Given the description of an element on the screen output the (x, y) to click on. 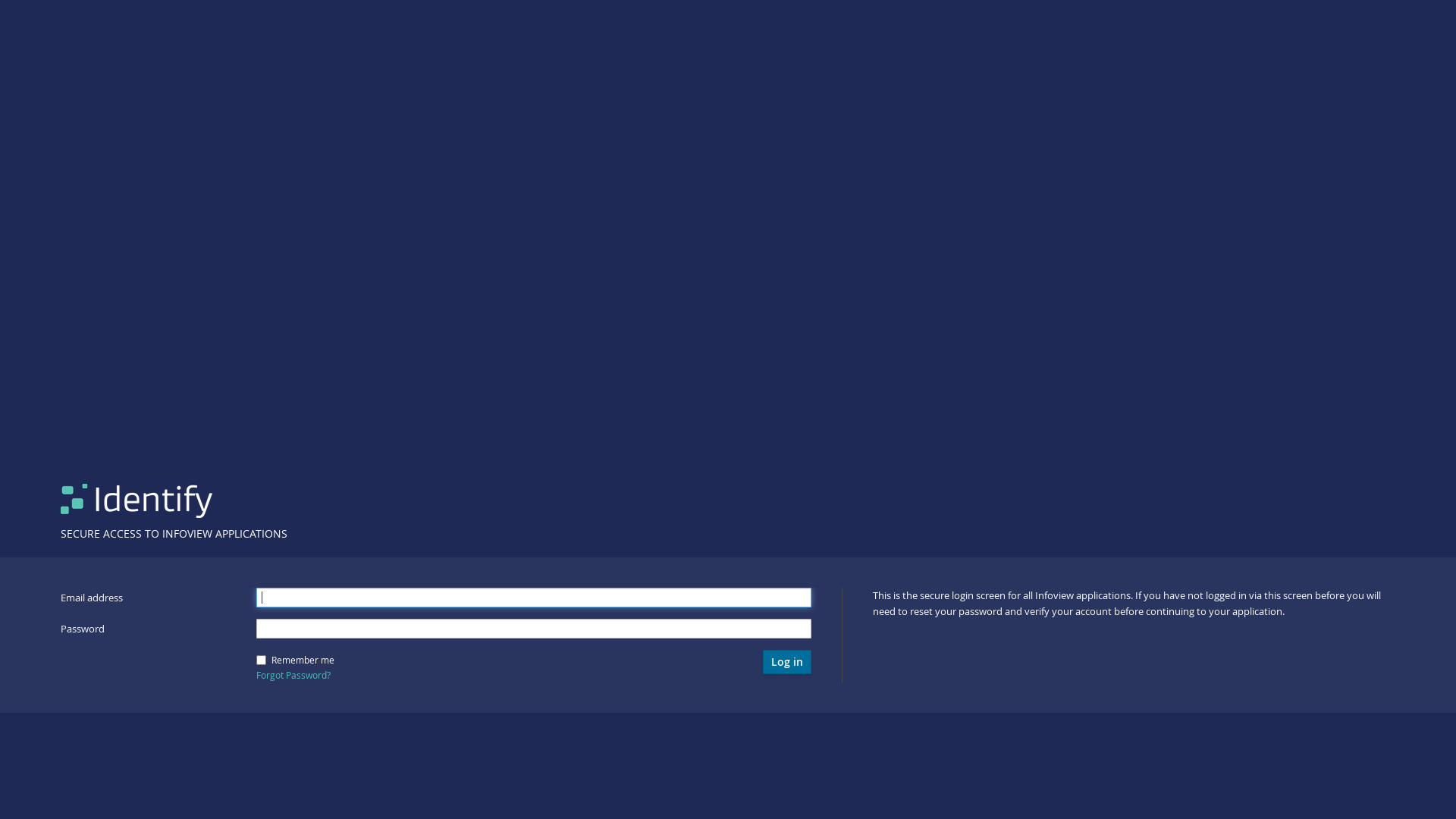
Log in Element type: text (786, 661)
Forgot Password? Element type: text (293, 674)
